Given the description of an element on the screen output the (x, y) to click on. 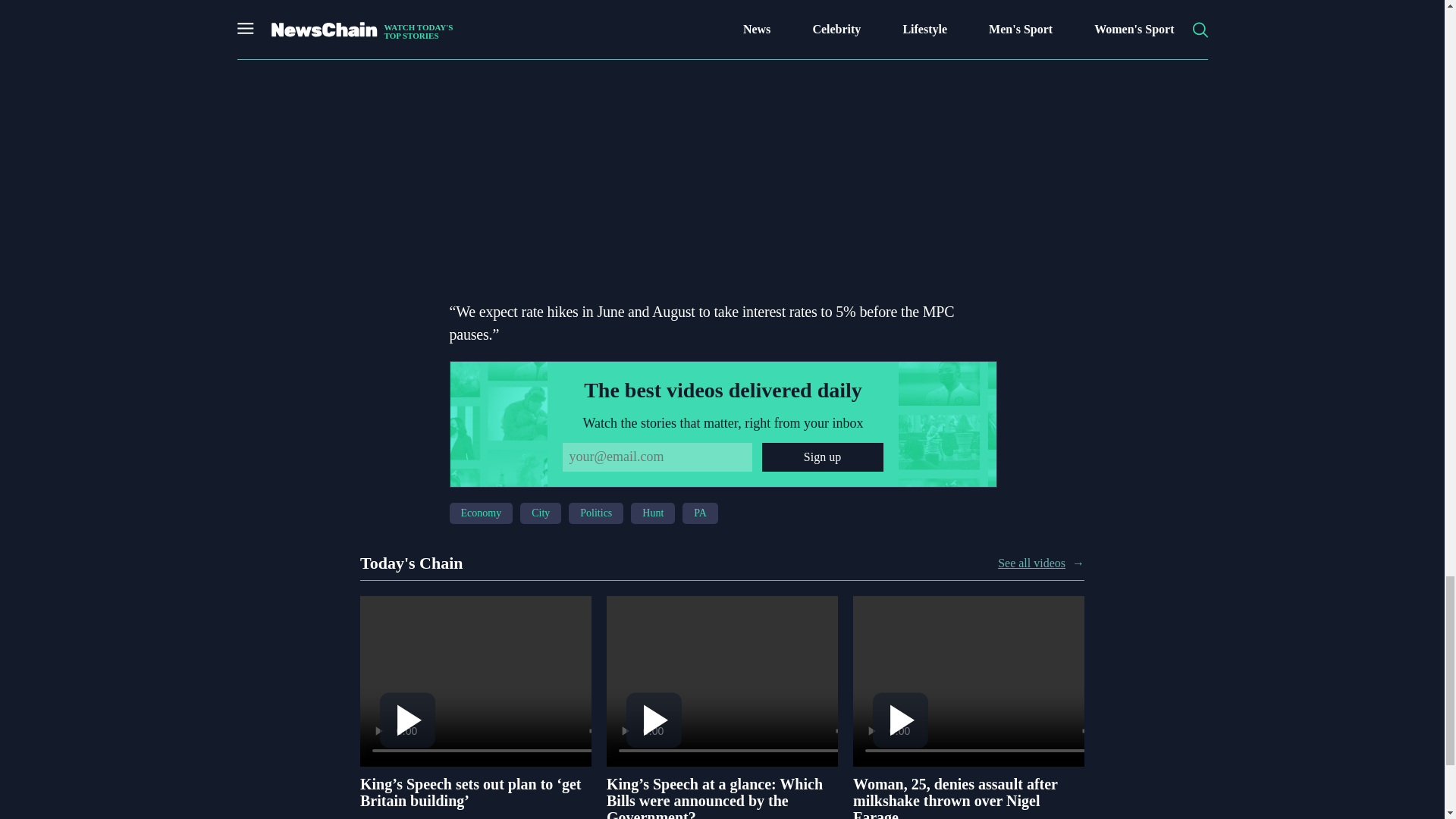
Sign up (822, 457)
Politics (596, 513)
Hunt (652, 513)
Sign up (822, 457)
See all videos (1031, 563)
City (539, 513)
PA (699, 513)
Economy (480, 513)
